Given the description of an element on the screen output the (x, y) to click on. 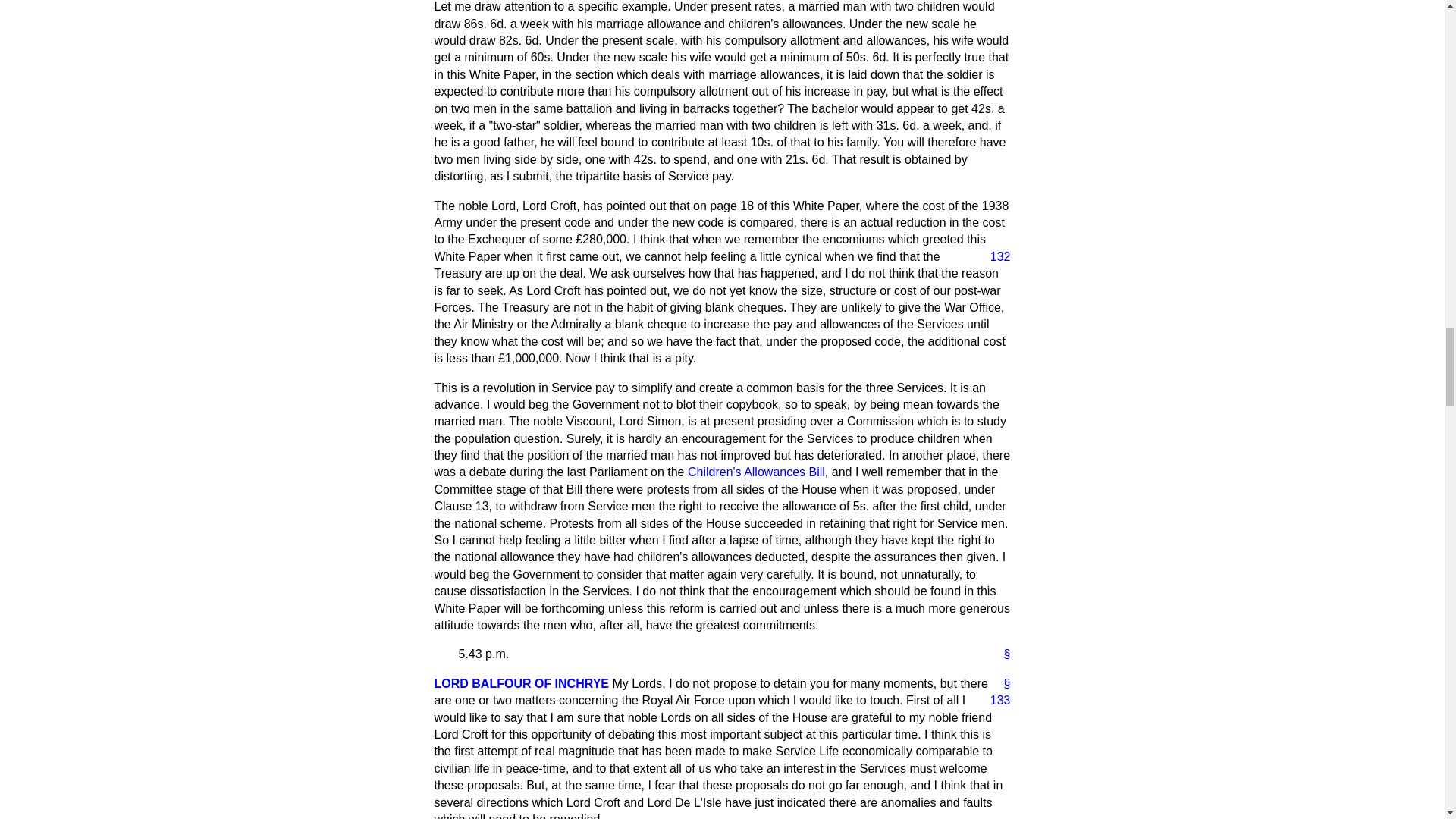
Children's Allowances Bill (756, 472)
LORD BALFOUR OF INCHRYE (520, 683)
133 (994, 700)
132 (994, 256)
